Given the description of an element on the screen output the (x, y) to click on. 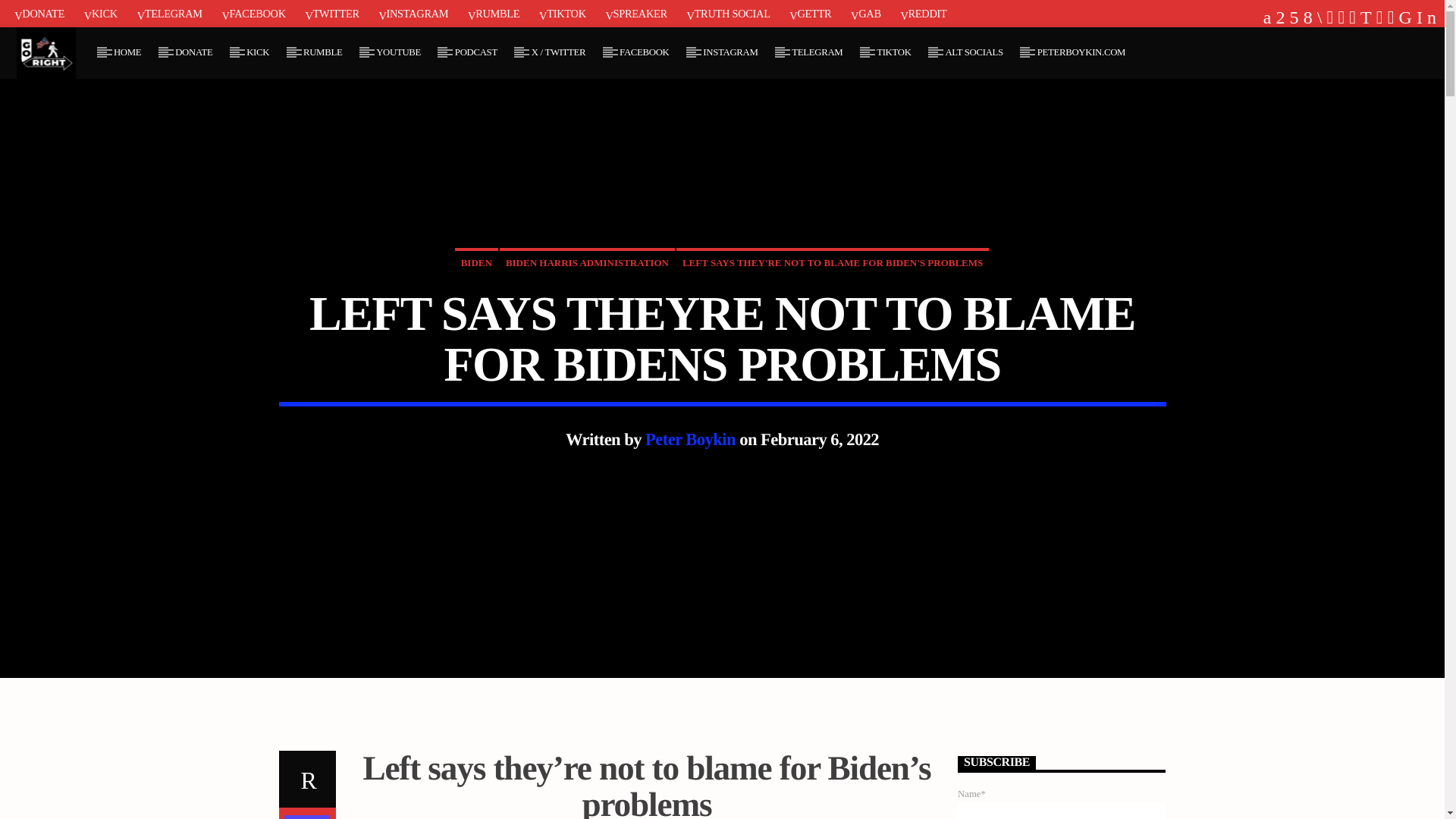
INSTAGRAM (413, 13)
DONATE (38, 13)
PODCAST (475, 52)
RUMBLE (322, 52)
Posts by Peter Boykin (690, 438)
REDDIT (922, 13)
KICK (258, 52)
TWITTER (331, 13)
SPREAKER (635, 13)
GAB (865, 13)
